Given the description of an element on the screen output the (x, y) to click on. 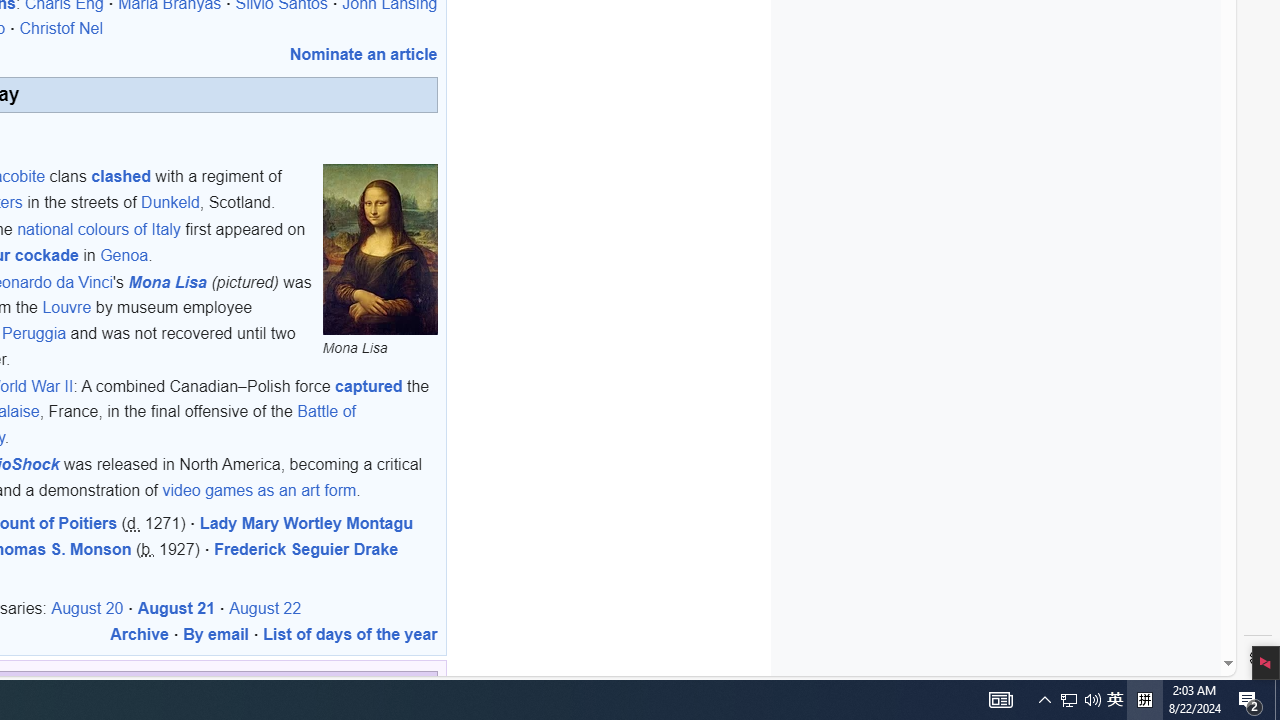
Christof Nel (61, 29)
August 22 (265, 608)
List of days of the year (349, 633)
Mona Lisa (167, 281)
List of days of the year (349, 633)
clashed (120, 176)
Lady Mary Wortley Montagu (305, 523)
August 21 (176, 608)
August 22 (265, 608)
